Given the description of an element on the screen output the (x, y) to click on. 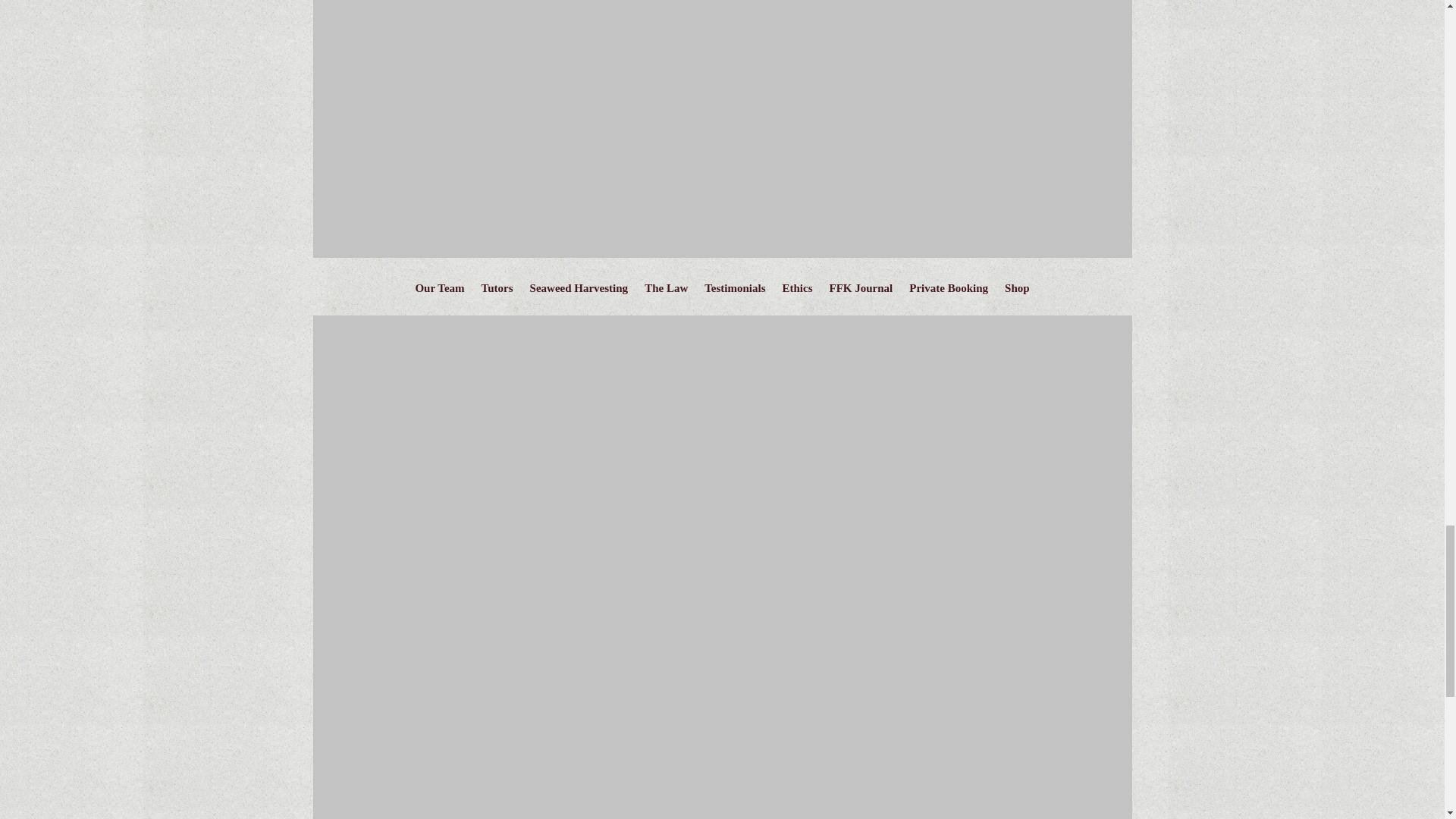
Seaweed Harvesting (578, 291)
Our Team (439, 291)
Shop (1016, 291)
FFK Journal (861, 291)
Ethics (797, 291)
Testimonials (734, 291)
The Law (666, 291)
Tutors (497, 291)
Private Booking (948, 291)
